Given the description of an element on the screen output the (x, y) to click on. 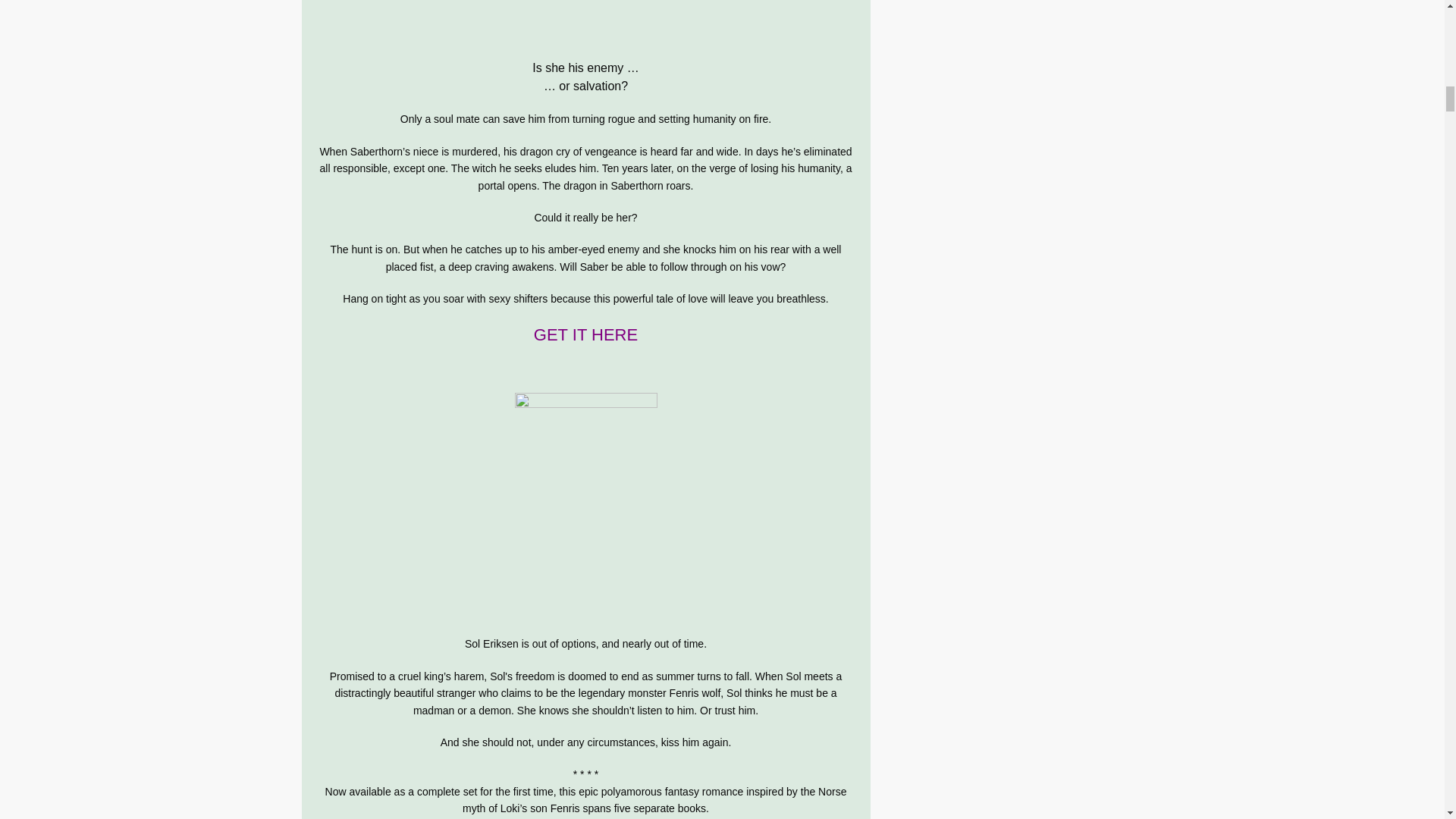
GET IT HERE (585, 334)
